Given the description of an element on the screen output the (x, y) to click on. 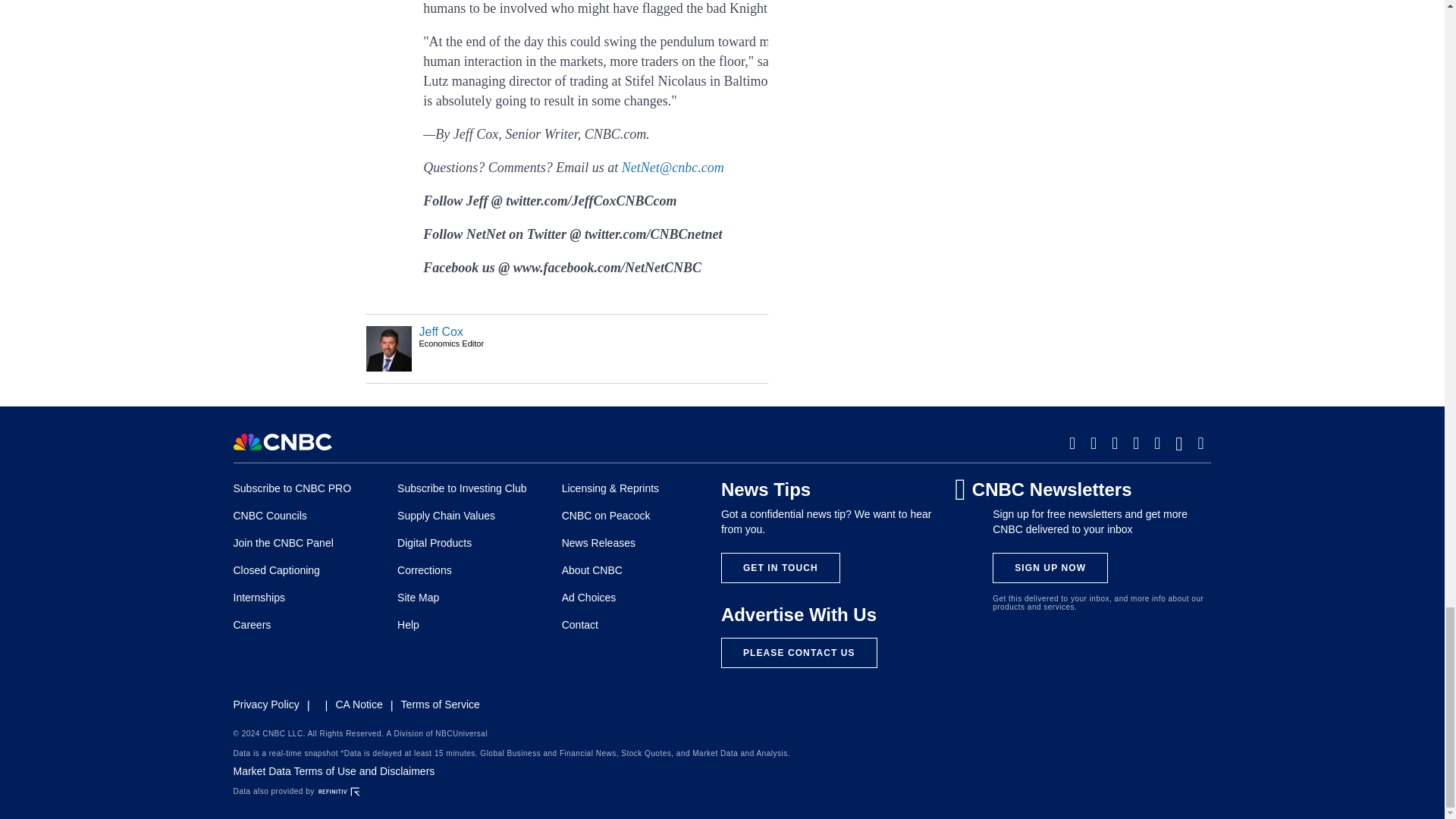
Jeff Cox (441, 331)
Careers (251, 624)
SIGN UP NOW (1050, 567)
Subscribe to CNBC PRO (292, 488)
CNBC Councils (269, 515)
Help (408, 624)
Closed Captioning (276, 570)
Join the CNBC Panel (282, 542)
Supply Chain Values (446, 515)
About CNBC (592, 570)
GET IN TOUCH (780, 567)
Contact (580, 624)
Internships (258, 597)
Digital Products (434, 542)
Site Map (418, 597)
